Given the description of an element on the screen output the (x, y) to click on. 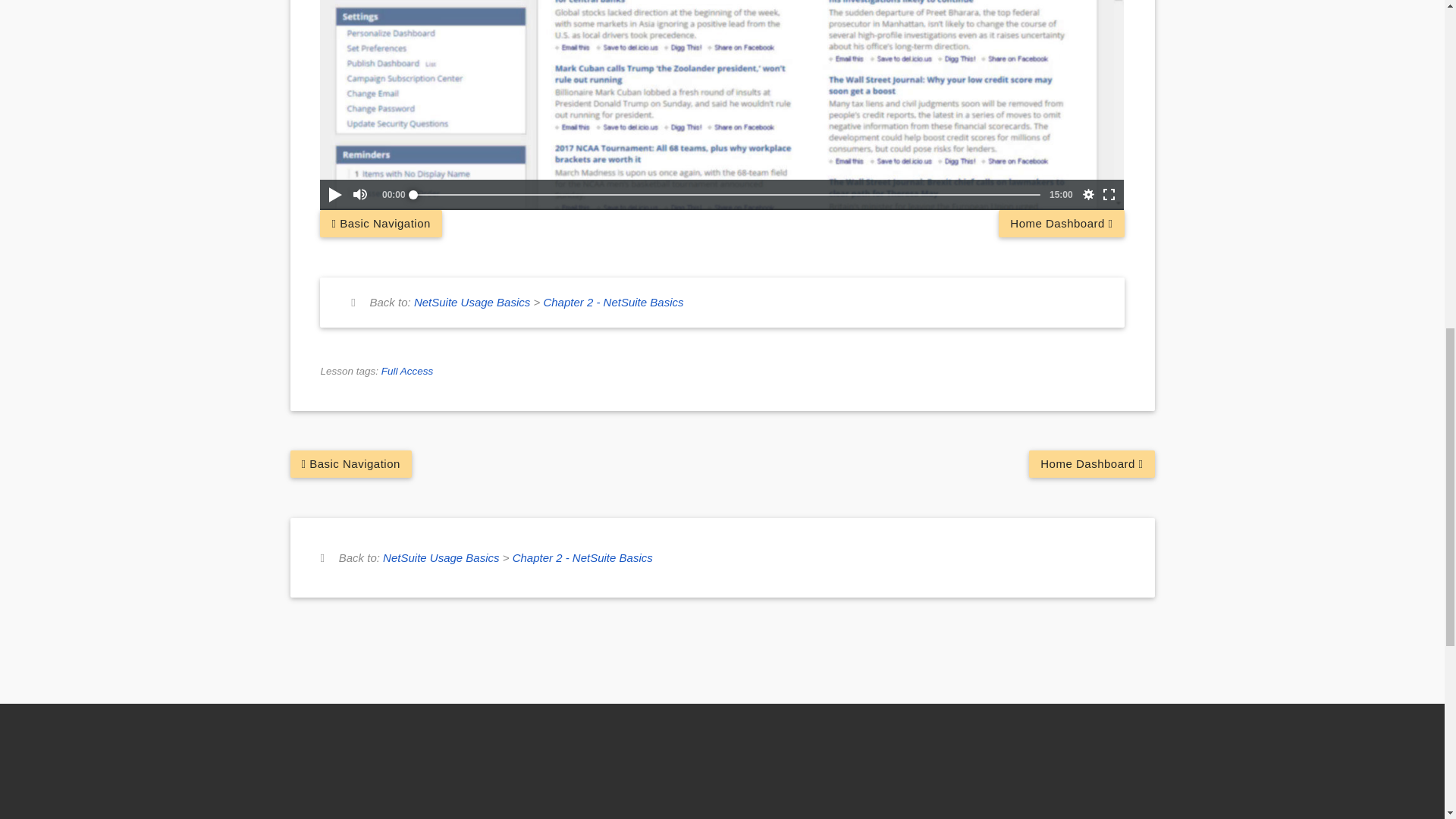
Chapter 2 - NetSuite Basics (582, 557)
Home Dashboard (1061, 223)
NetSuite Usage Basics (440, 557)
NetSuite Usage Basics (471, 301)
Chapter 2 - NetSuite Basics (612, 301)
Back to the module (612, 301)
Full Access (407, 370)
Back to the course (471, 301)
Basic Navigation (349, 463)
Basic Navigation (380, 223)
Home Dashboard (1091, 463)
Back to the module (582, 557)
Back to the course (440, 557)
